Given the description of an element on the screen output the (x, y) to click on. 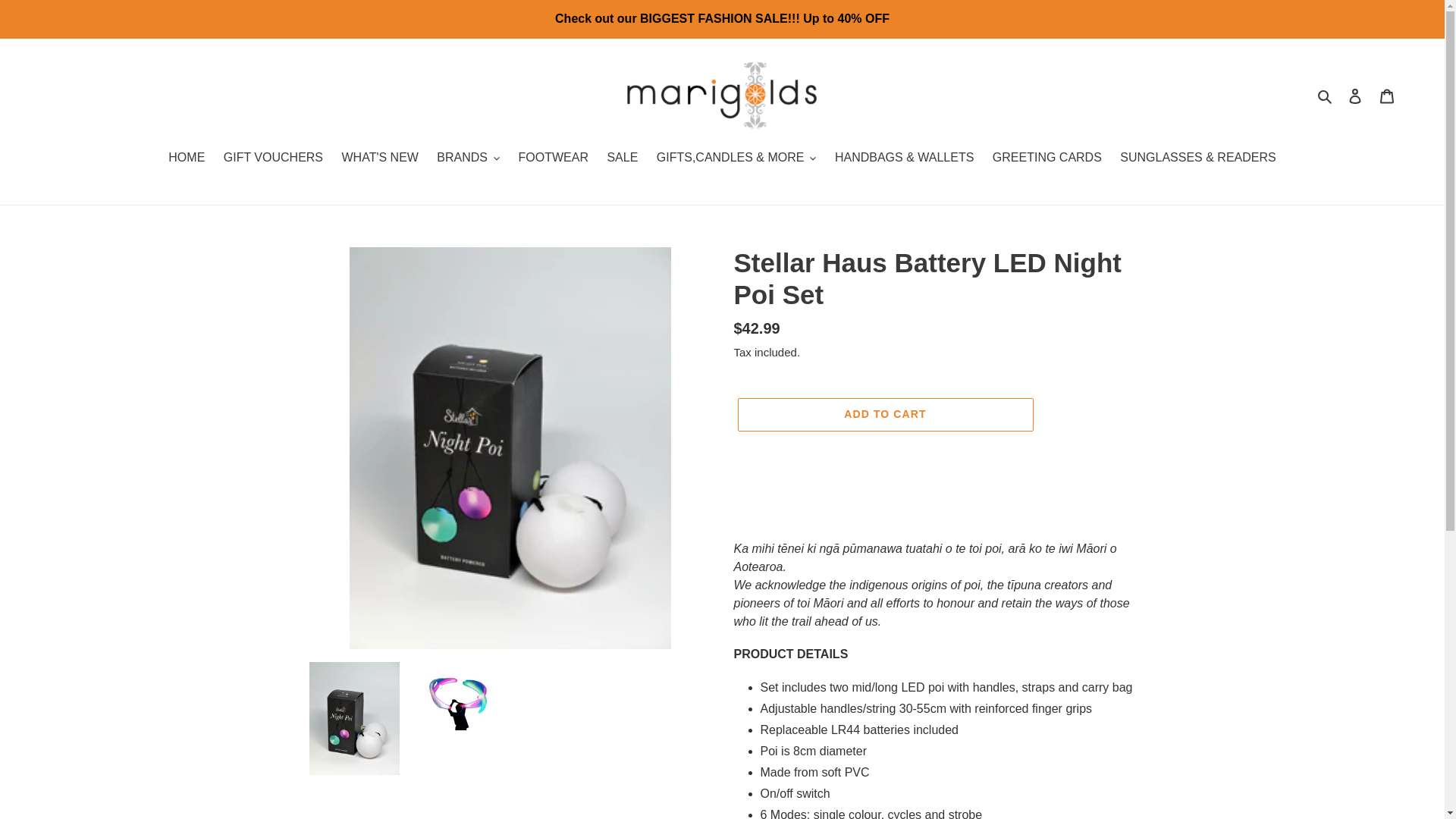
Log in (1355, 95)
Search (1326, 95)
Cart (1387, 95)
